Given the description of an element on the screen output the (x, y) to click on. 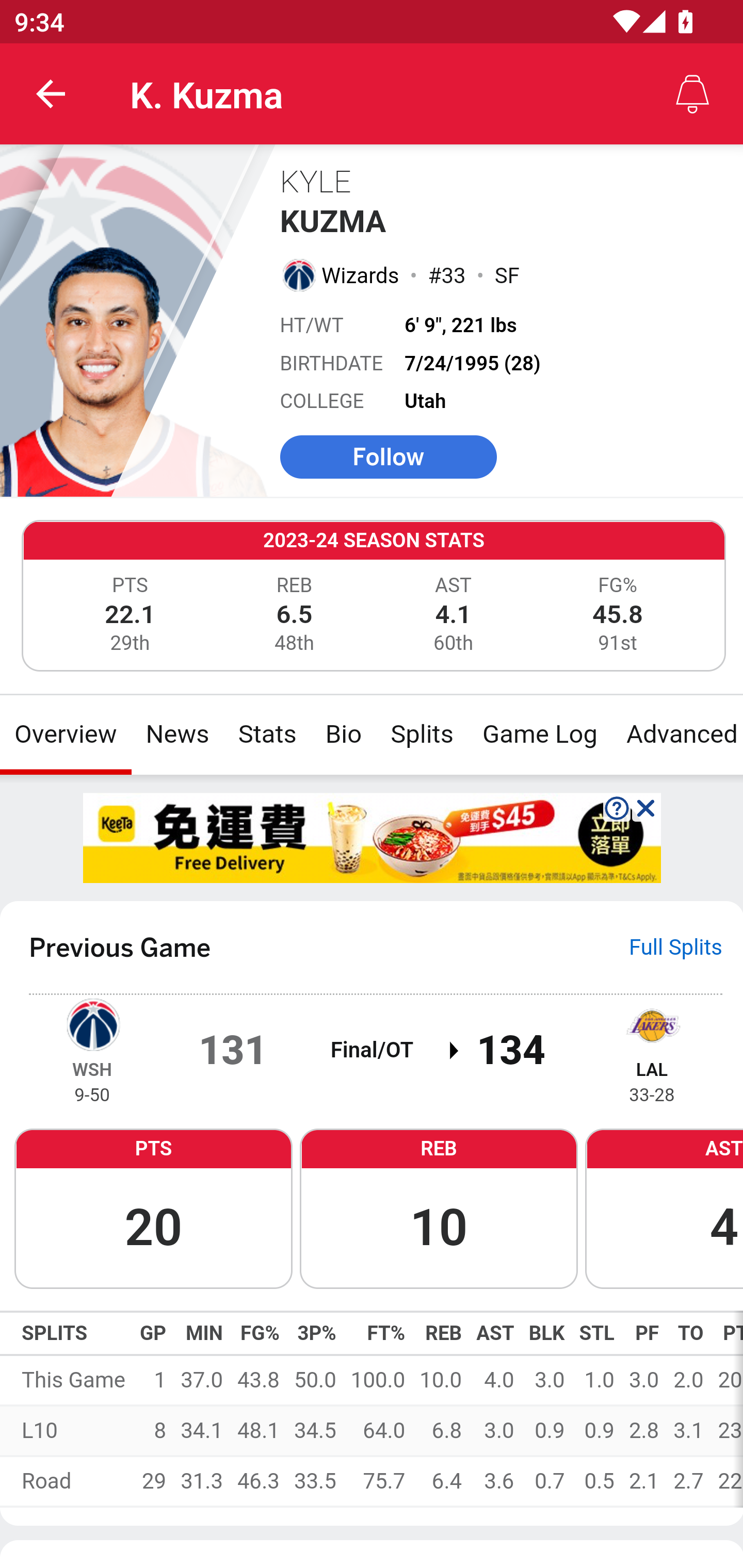
back.button (50, 93)
Alerts (692, 93)
Washington Wizards (297, 274)
Wizards (361, 274)
Utah (426, 401)
Follow (387, 455)
Overview (65, 734)
News (177, 734)
Stats (267, 734)
Bio (343, 734)
Splits (422, 734)
Game Log (538, 734)
Advanced Stats (676, 734)
Full Splits (675, 946)
Washington Wizards (91, 1022)
Los Angeles Lakers (651, 1022)
PTS 20 (153, 1206)
REB 10 (438, 1206)
AST 4 (664, 1206)
